Given the description of an element on the screen output the (x, y) to click on. 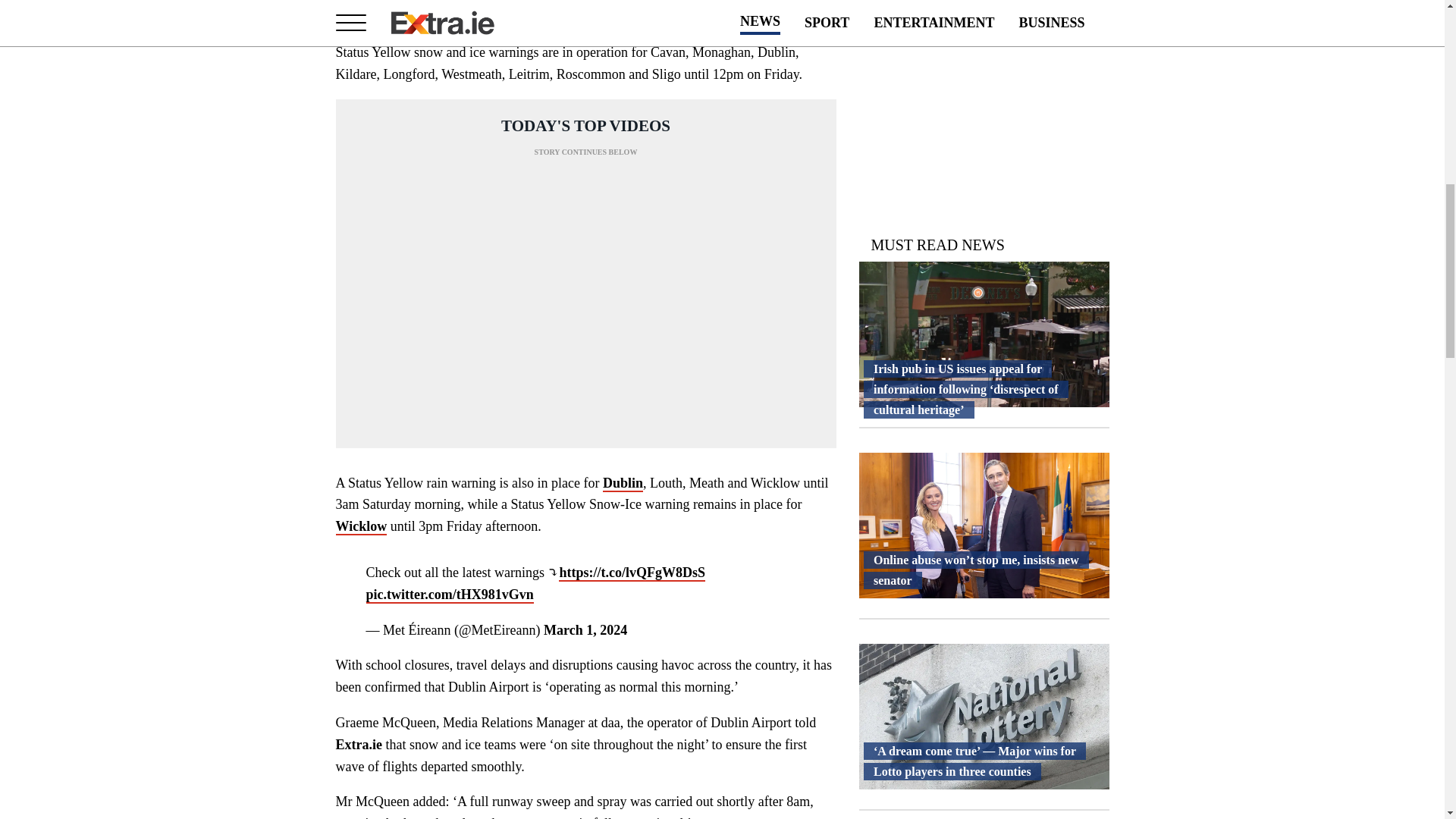
March 1, 2024 (585, 630)
snowfall (645, 2)
Dublin (622, 483)
Wicklow (360, 526)
